Given the description of an element on the screen output the (x, y) to click on. 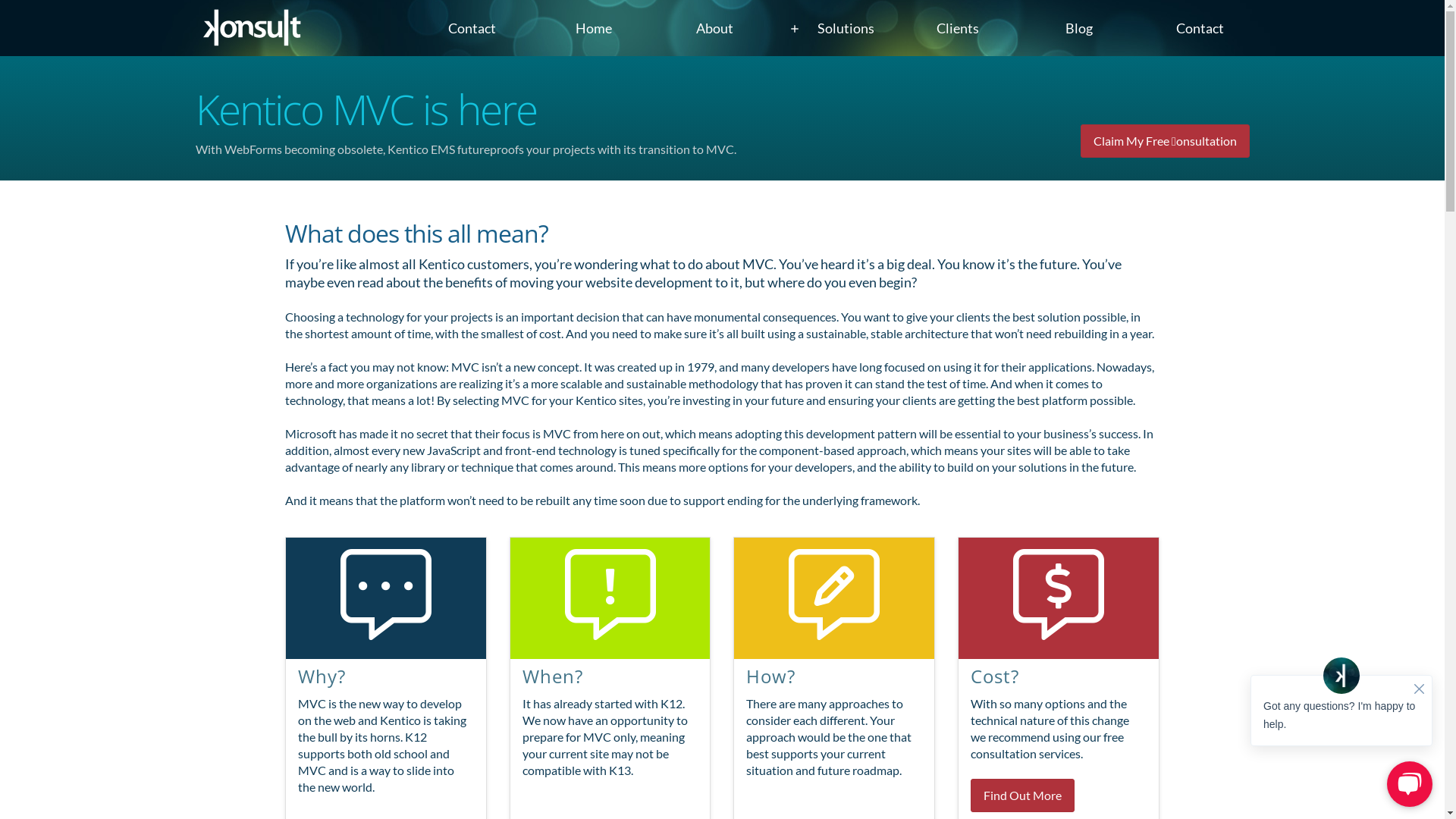
Find Out More Element type: text (1022, 795)
Contact Element type: text (1199, 28)
About Element type: text (714, 28)
Clients Element type: text (956, 28)
Contact Element type: text (471, 28)
Home Element type: text (592, 28)
Solutions Element type: text (835, 28)
Blog Element type: text (1078, 28)
